Given the description of an element on the screen output the (x, y) to click on. 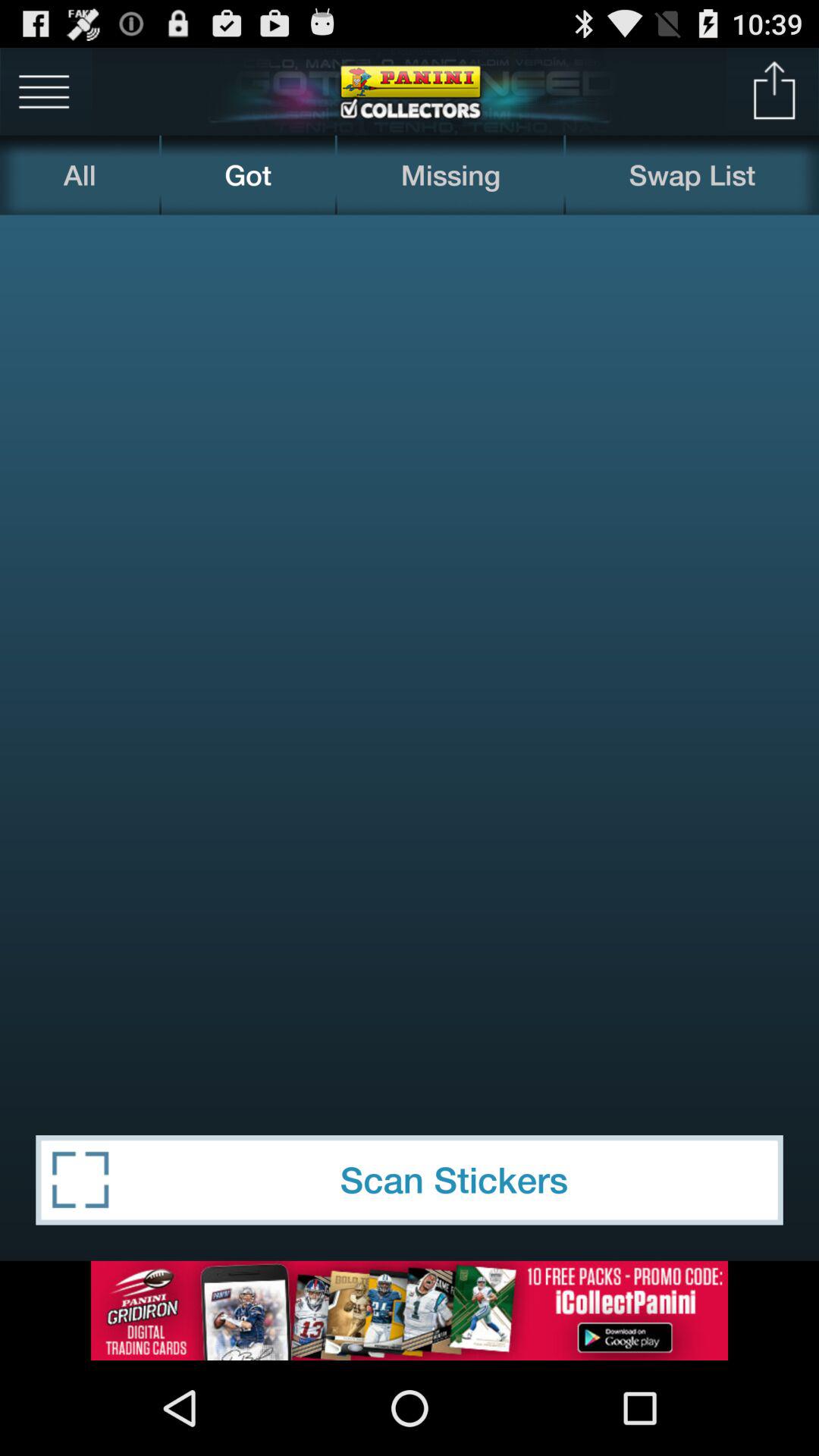
share the article (774, 91)
